Given the description of an element on the screen output the (x, y) to click on. 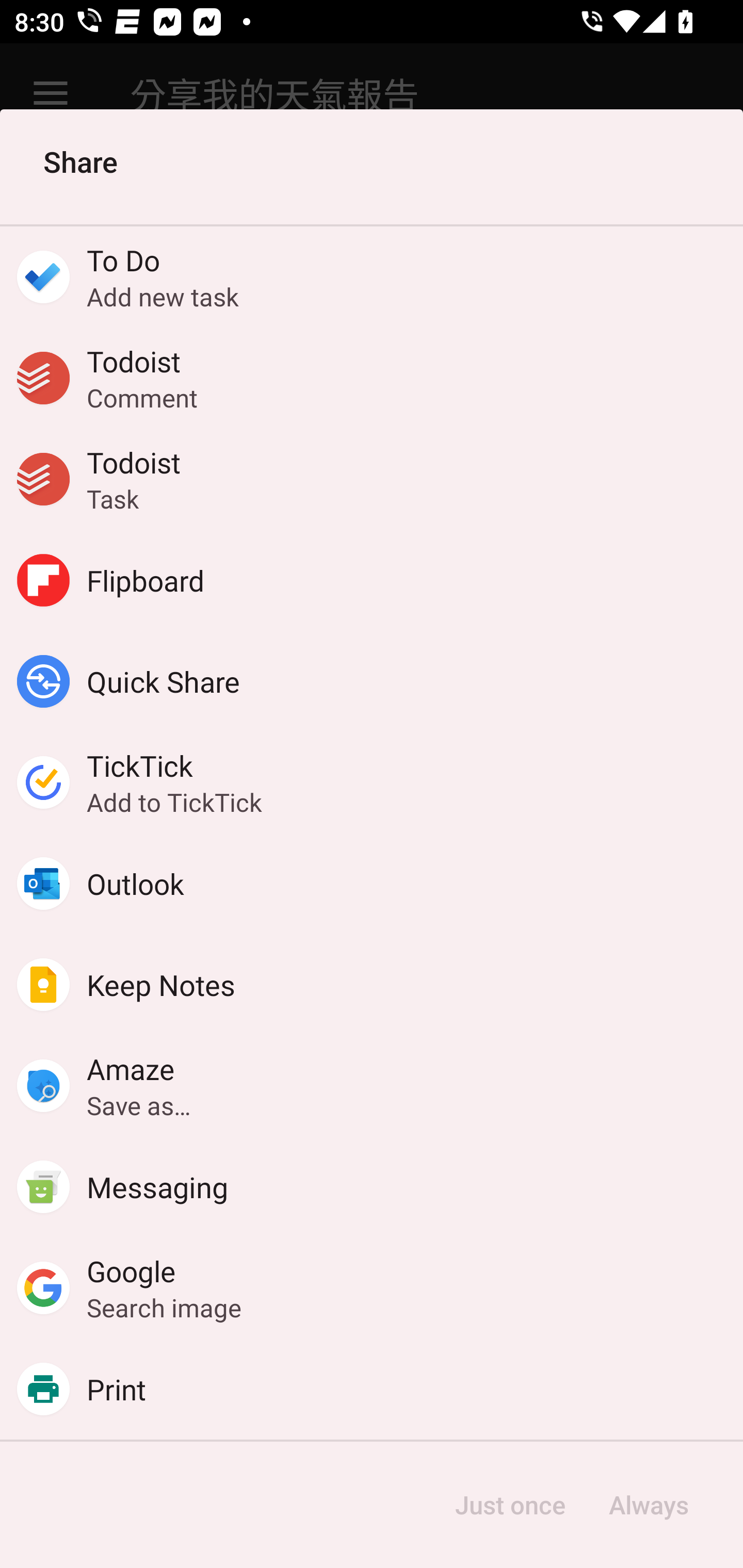
To Do Add new task (371, 276)
Todoist Comment (371, 377)
Todoist Task (371, 478)
Flipboard (371, 579)
Quick Share (371, 681)
TickTick Add to TickTick (371, 782)
Outlook (371, 883)
Keep Notes (371, 984)
Amaze Save as… (371, 1085)
Messaging (371, 1186)
Google Search image (371, 1288)
Print (371, 1389)
Just once (509, 1504)
Always (648, 1504)
